Given the description of an element on the screen output the (x, y) to click on. 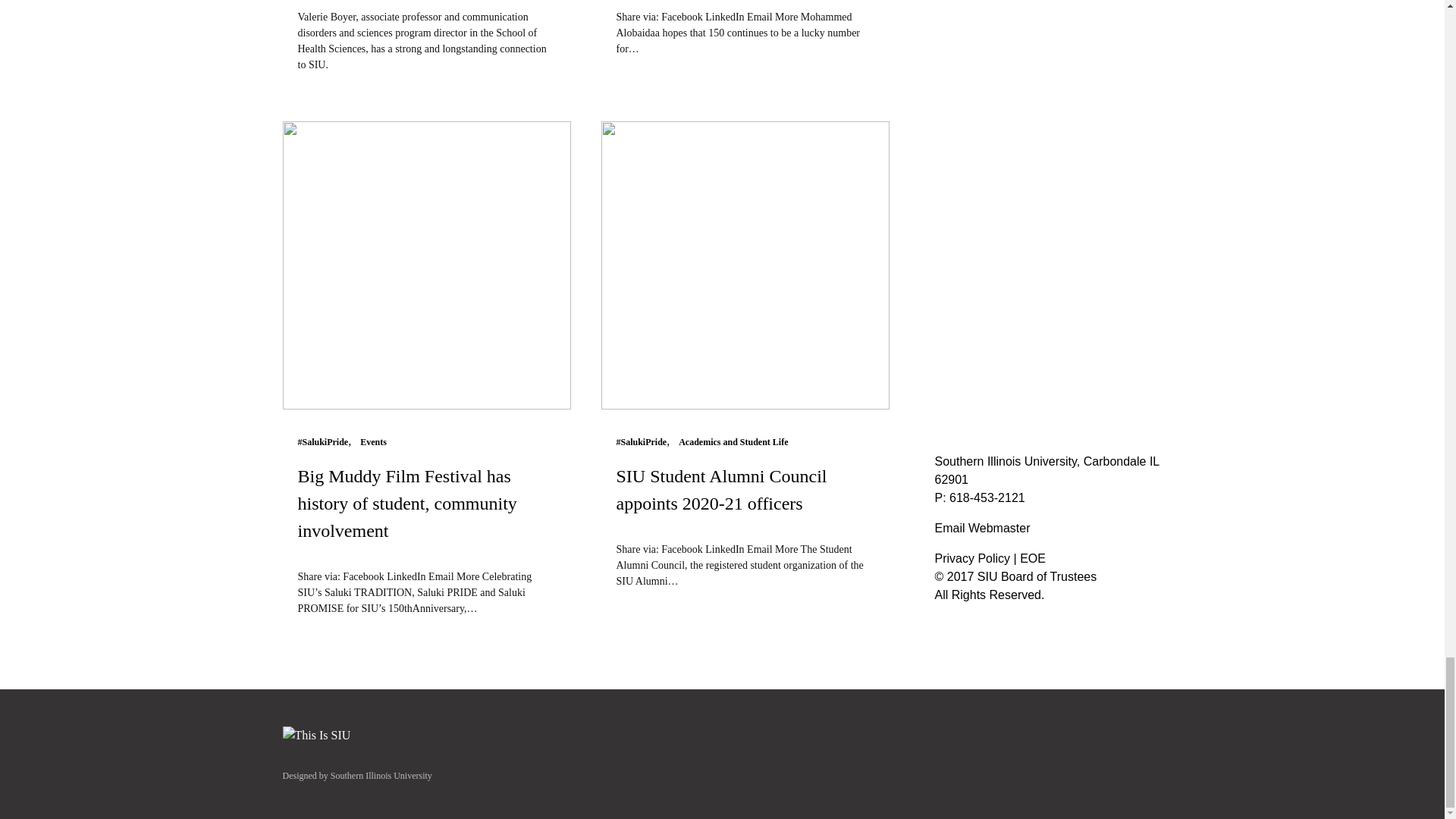
SIU Student Alumni Council appoints 2020-21 officers (744, 503)
